Given the description of an element on the screen output the (x, y) to click on. 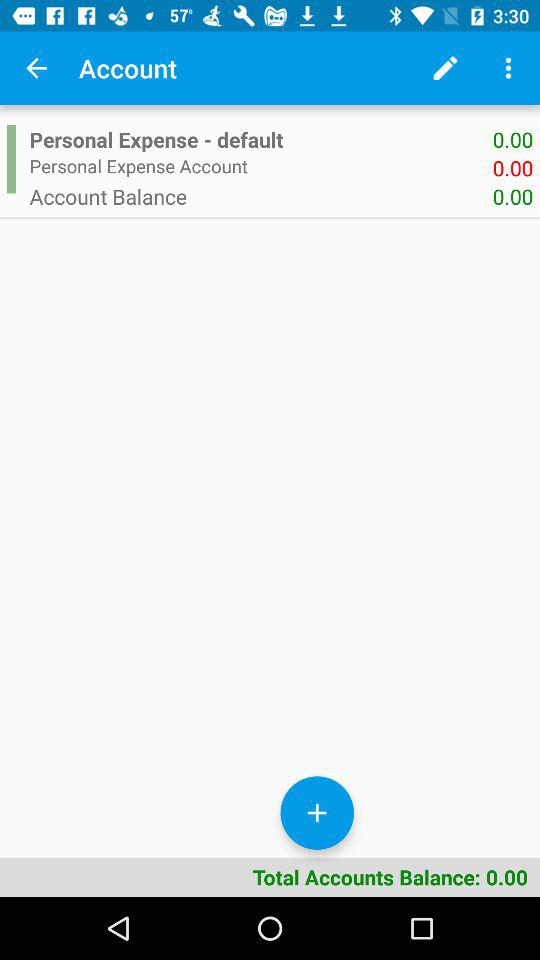
turn off the item above the total accounts balance icon (316, 812)
